Given the description of an element on the screen output the (x, y) to click on. 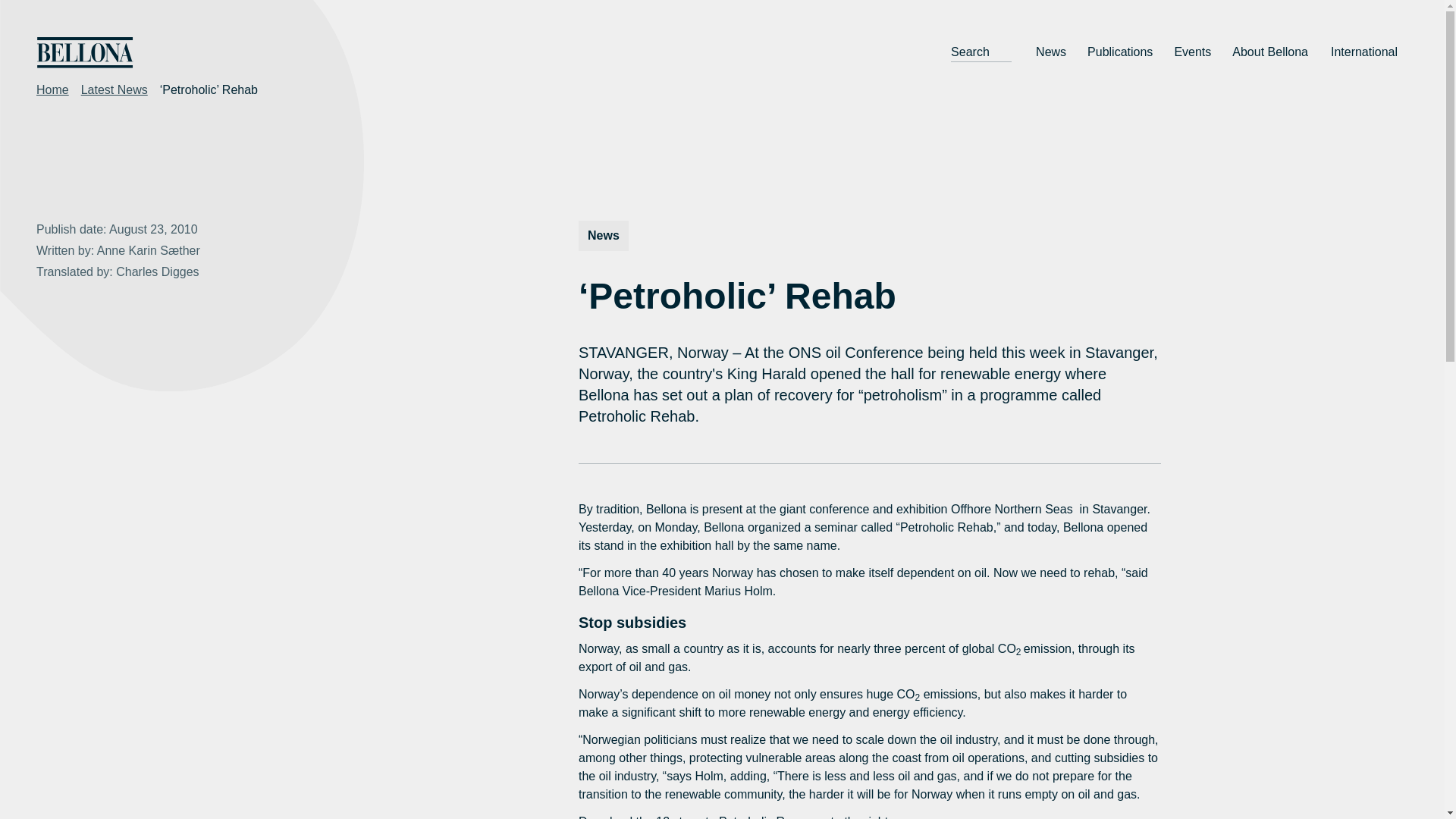
Publications (1119, 51)
Home (52, 90)
International (1364, 51)
Latest News (114, 90)
Events (1192, 51)
About Bellona (1271, 51)
News (1050, 51)
